Given the description of an element on the screen output the (x, y) to click on. 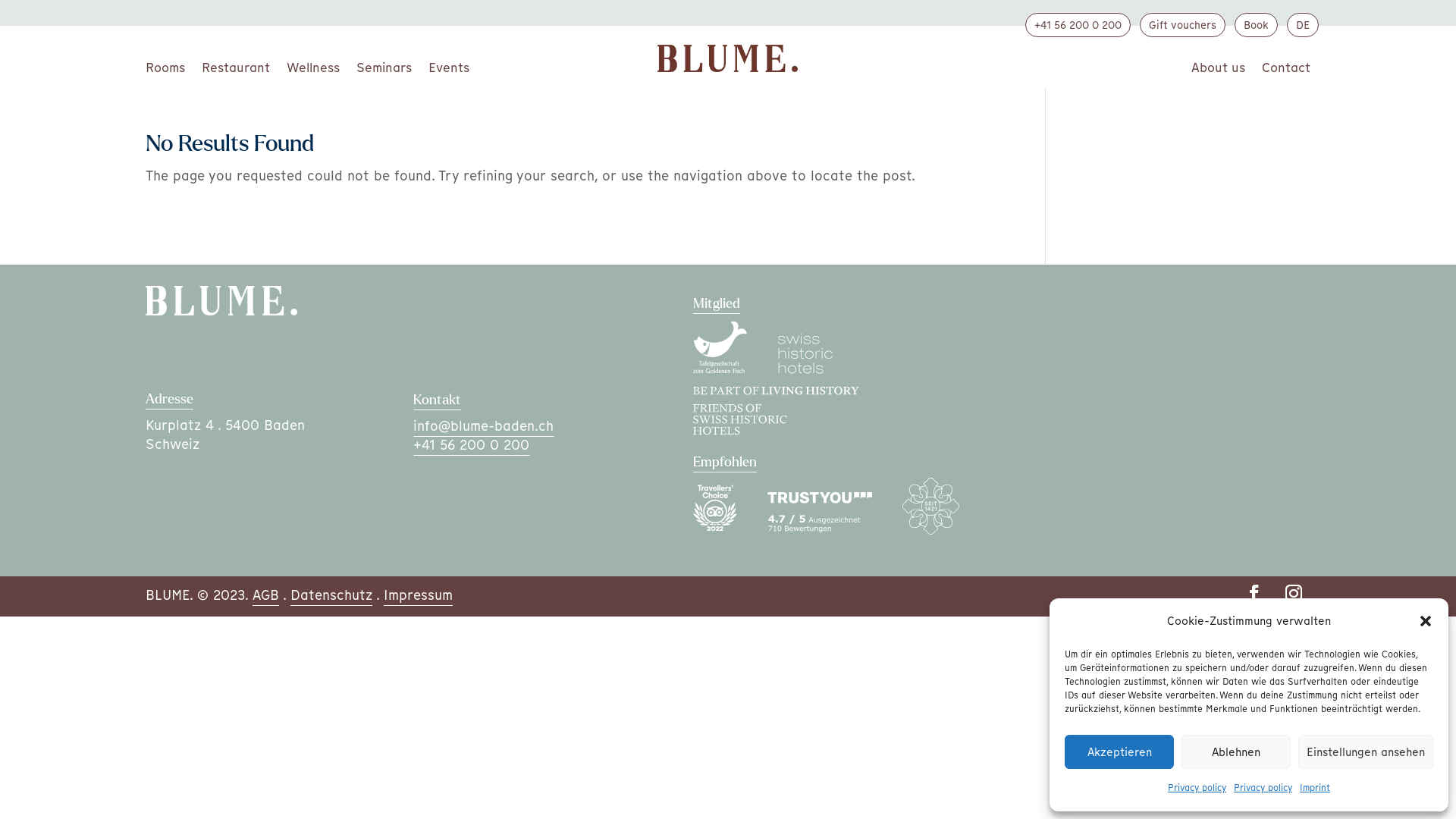
Imprint Element type: text (1314, 788)
Living History Element type: hover (791, 432)
About us Element type: text (1218, 70)
Wellness Element type: text (312, 70)
Events Element type: text (448, 70)
+41 56 200 0 200 Element type: text (1077, 24)
Seminars Element type: text (383, 70)
Privacy policy Element type: text (1262, 788)
Follow on Facebook Element type: hover (1253, 592)
+41 56 200 0 200 Element type: text (471, 444)
Restaurant Element type: text (235, 70)
Privacy policy Element type: text (1196, 788)
Logo_BLUME_weiss_RBG Element type: hover (221, 300)
Rooms Element type: text (165, 70)
Einstellungen ansehen Element type: text (1365, 751)
Swiss Historic Hotels Element type: hover (820, 371)
Gift vouchers Element type: text (1182, 24)
Travellers Choice Element type: hover (730, 529)
Follow on Instagram Element type: hover (1293, 592)
DE Element type: text (1302, 24)
Ablehnen Element type: text (1235, 751)
Book Element type: text (1255, 24)
Trust you Element type: hover (834, 529)
Hotel Blume Element type: hover (945, 529)
Akzeptieren Element type: text (1118, 751)
info@blume-baden.ch Element type: text (483, 425)
Datenschutz Element type: text (331, 594)
Tafelgesellschaft zum Goldenen Fisch Element type: hover (735, 371)
AGB Element type: text (265, 594)
Contact Element type: text (1285, 70)
Impressum Element type: text (417, 594)
